Given the description of an element on the screen output the (x, y) to click on. 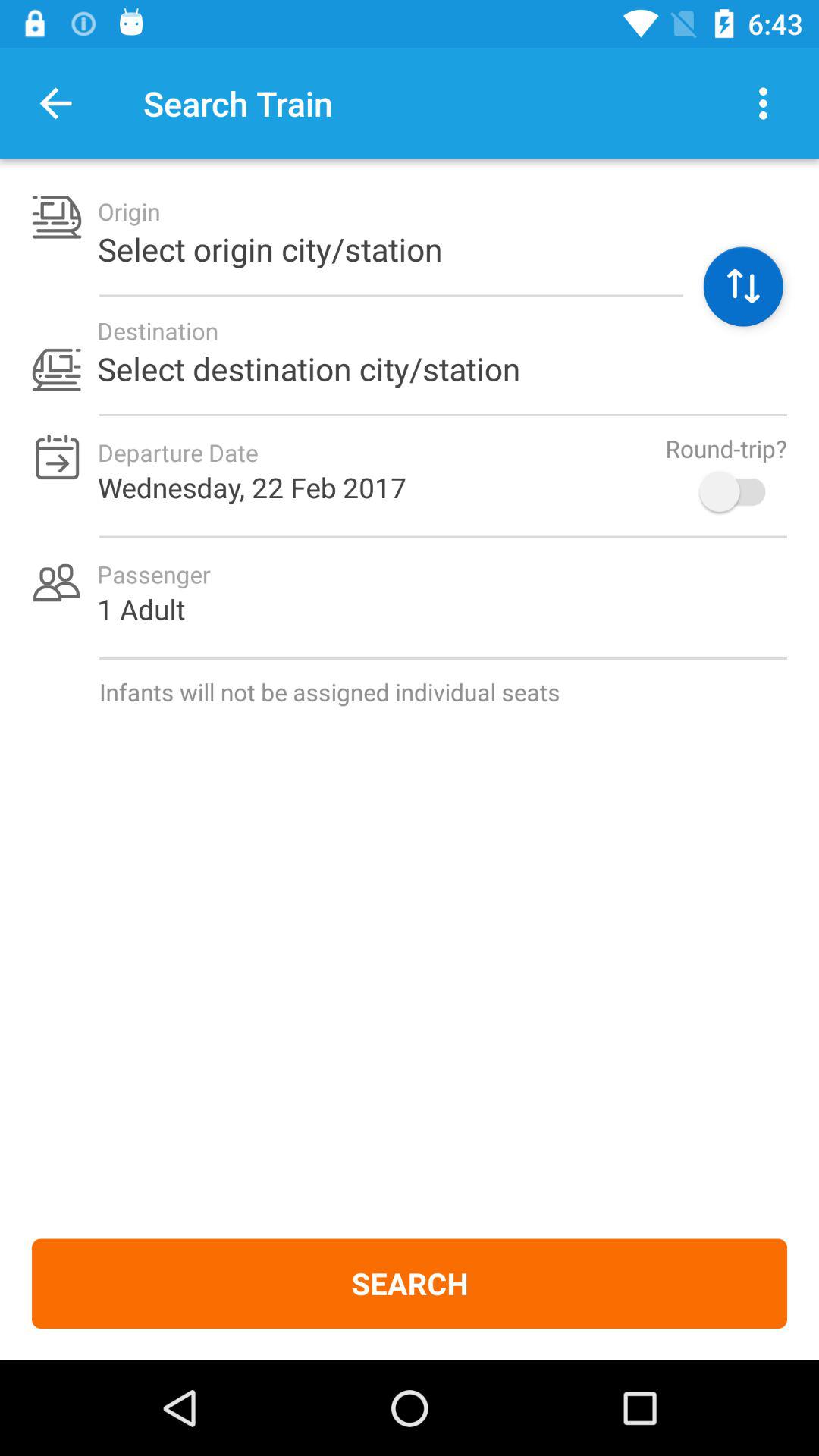
launch the item below the round-trip? (739, 491)
